Given the description of an element on the screen output the (x, y) to click on. 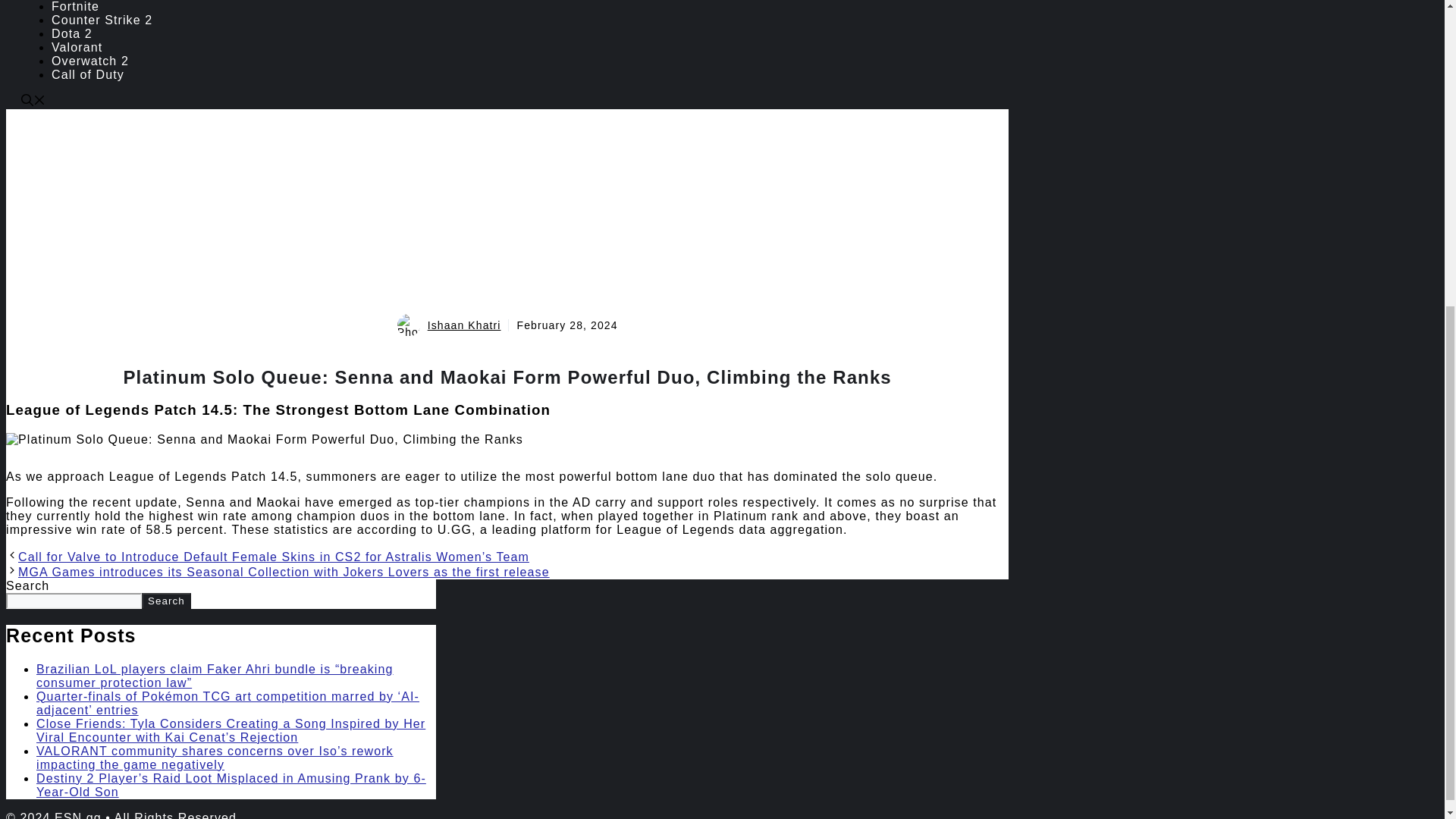
Overwatch 2 (89, 60)
Counter Strike 2 (101, 19)
Fortnite (74, 6)
Ishaan Khatri (464, 325)
Call of Duty (86, 74)
Dota 2 (71, 33)
Valorant (75, 47)
